Given the description of an element on the screen output the (x, y) to click on. 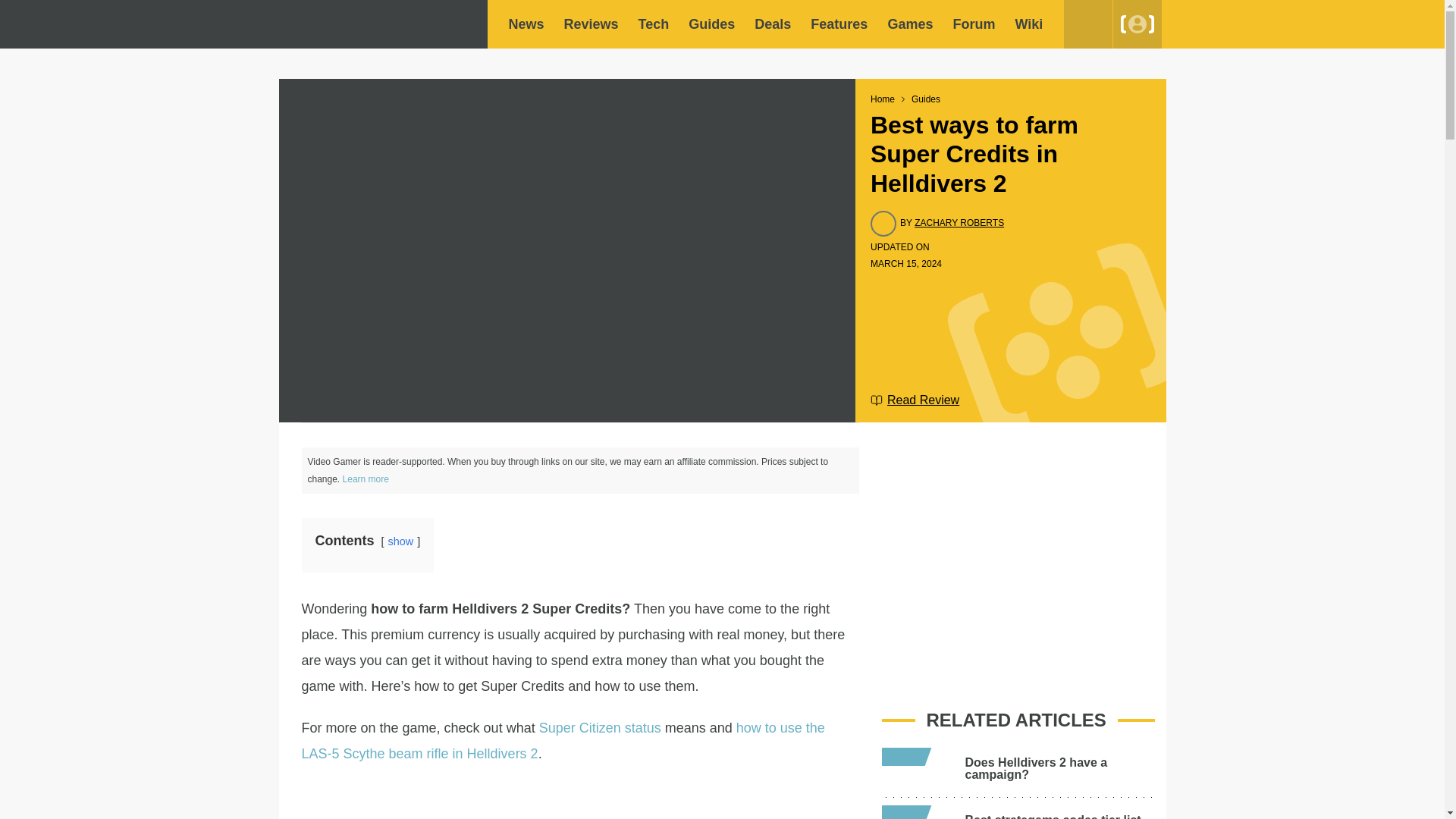
Reviews (591, 24)
Learn more (365, 479)
Features (838, 24)
ZACHARY ROBERTS (959, 222)
Guides (925, 99)
show (400, 541)
Guides (711, 24)
Forum (973, 24)
News (526, 24)
how to use the LAS-5 Scythe beam rifle in Helldivers 2 (563, 740)
